Given the description of an element on the screen output the (x, y) to click on. 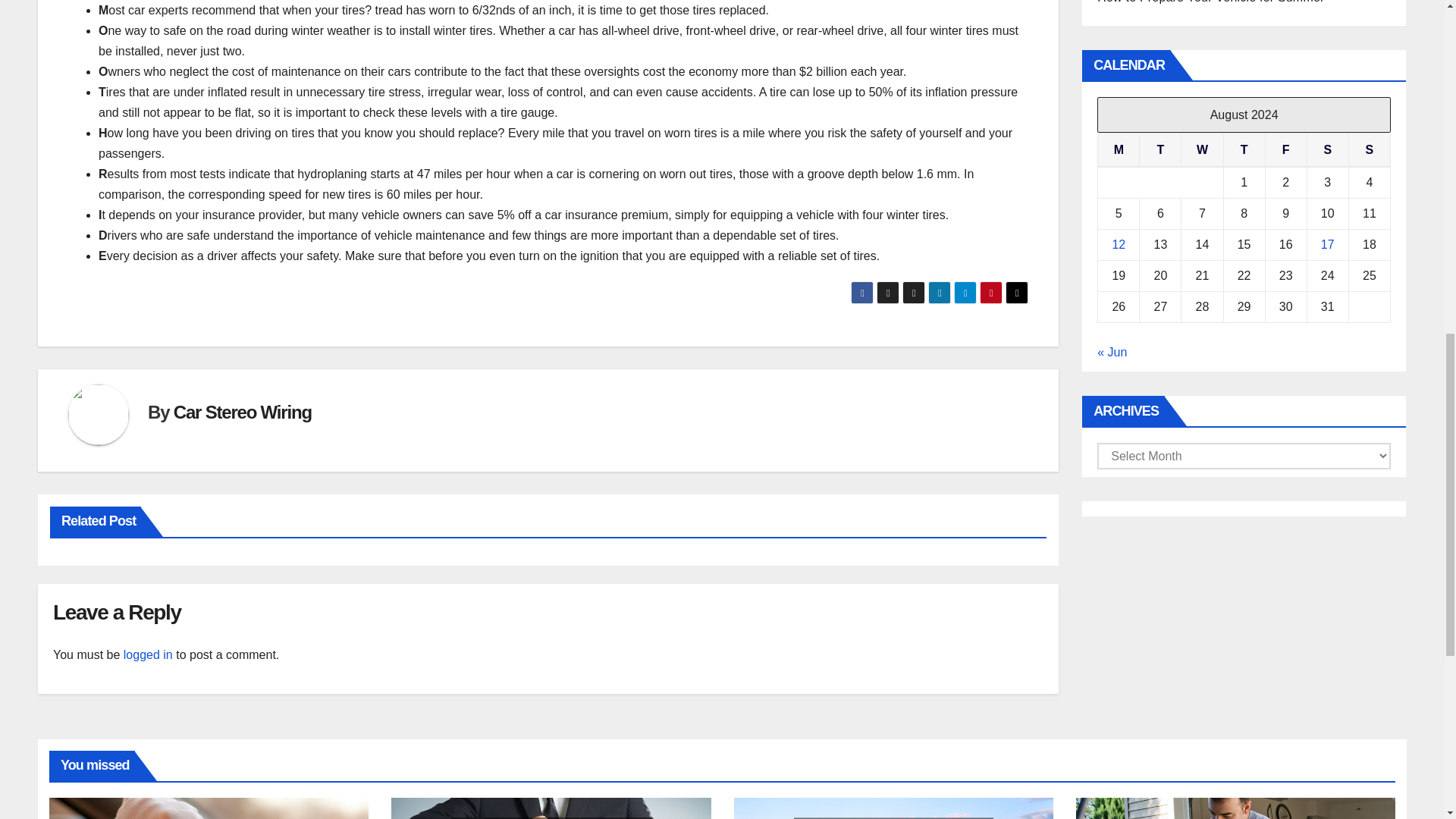
Sunday (1369, 150)
logged in (148, 654)
Car Stereo Wiring (242, 412)
Friday (1285, 150)
Tuesday (1160, 150)
Monday (1118, 150)
Wednesday (1201, 150)
Saturday (1327, 150)
Thursday (1244, 150)
